Given the description of an element on the screen output the (x, y) to click on. 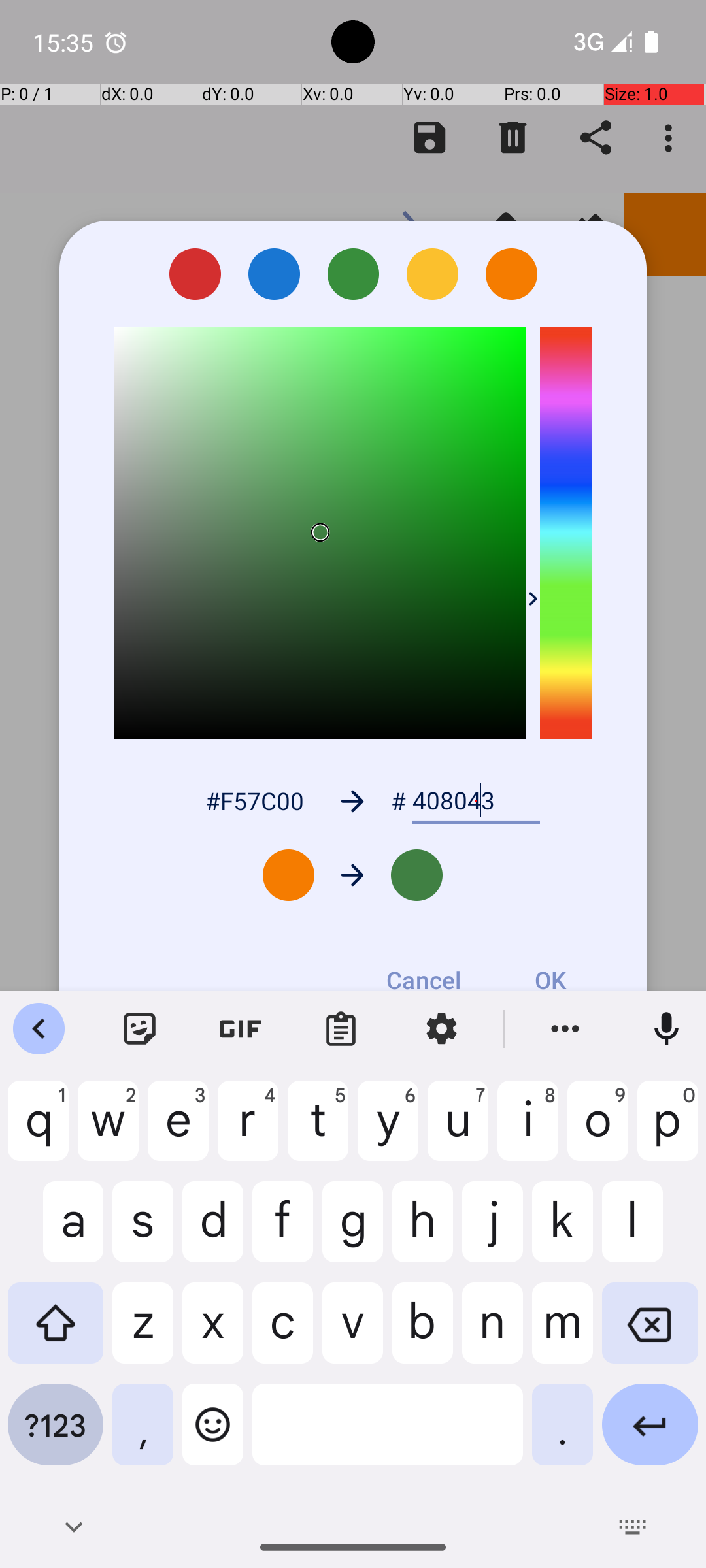
408043 Element type: android.widget.EditText (475, 800)
